Given the description of an element on the screen output the (x, y) to click on. 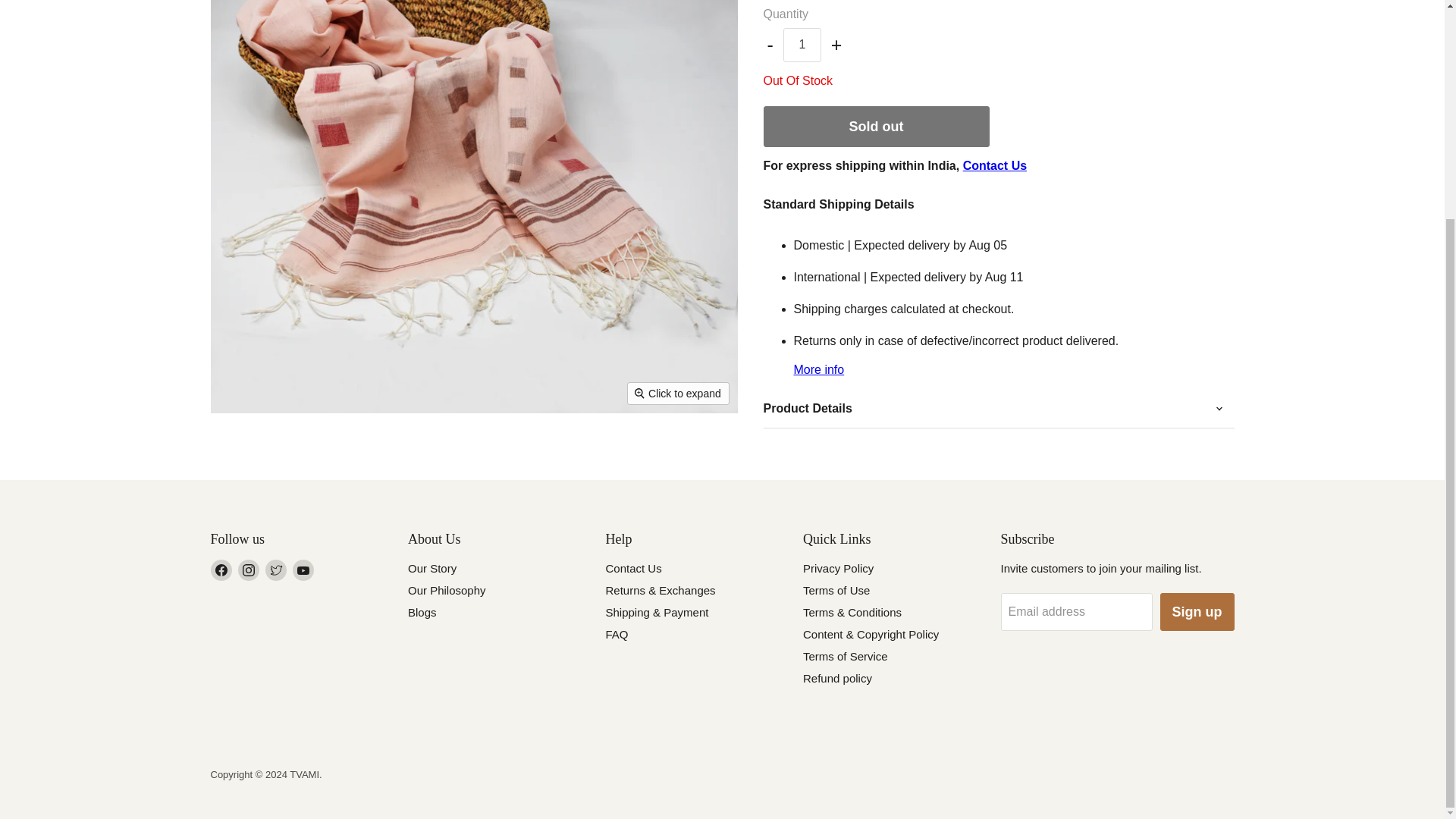
YouTube (303, 569)
Twitter (275, 569)
Facebook (221, 569)
1 (802, 44)
Instagram (248, 569)
